Given the description of an element on the screen output the (x, y) to click on. 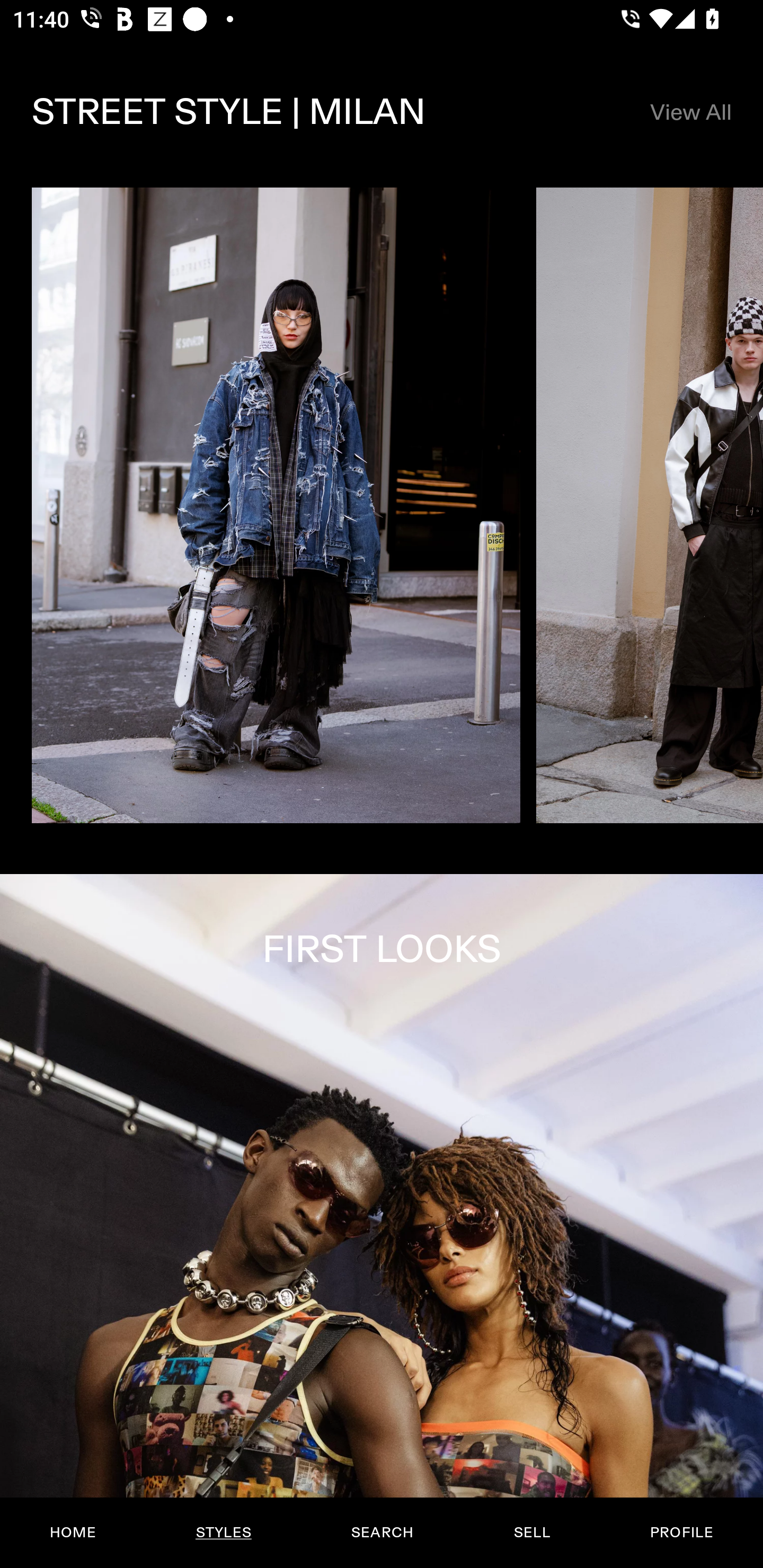
View All (690, 112)
FIRST LOOKS DIESEL FALL '24 (381, 1220)
HOME (72, 1532)
STYLES (222, 1532)
SEARCH (381, 1532)
SELL (531, 1532)
PROFILE (681, 1532)
